Given the description of an element on the screen output the (x, y) to click on. 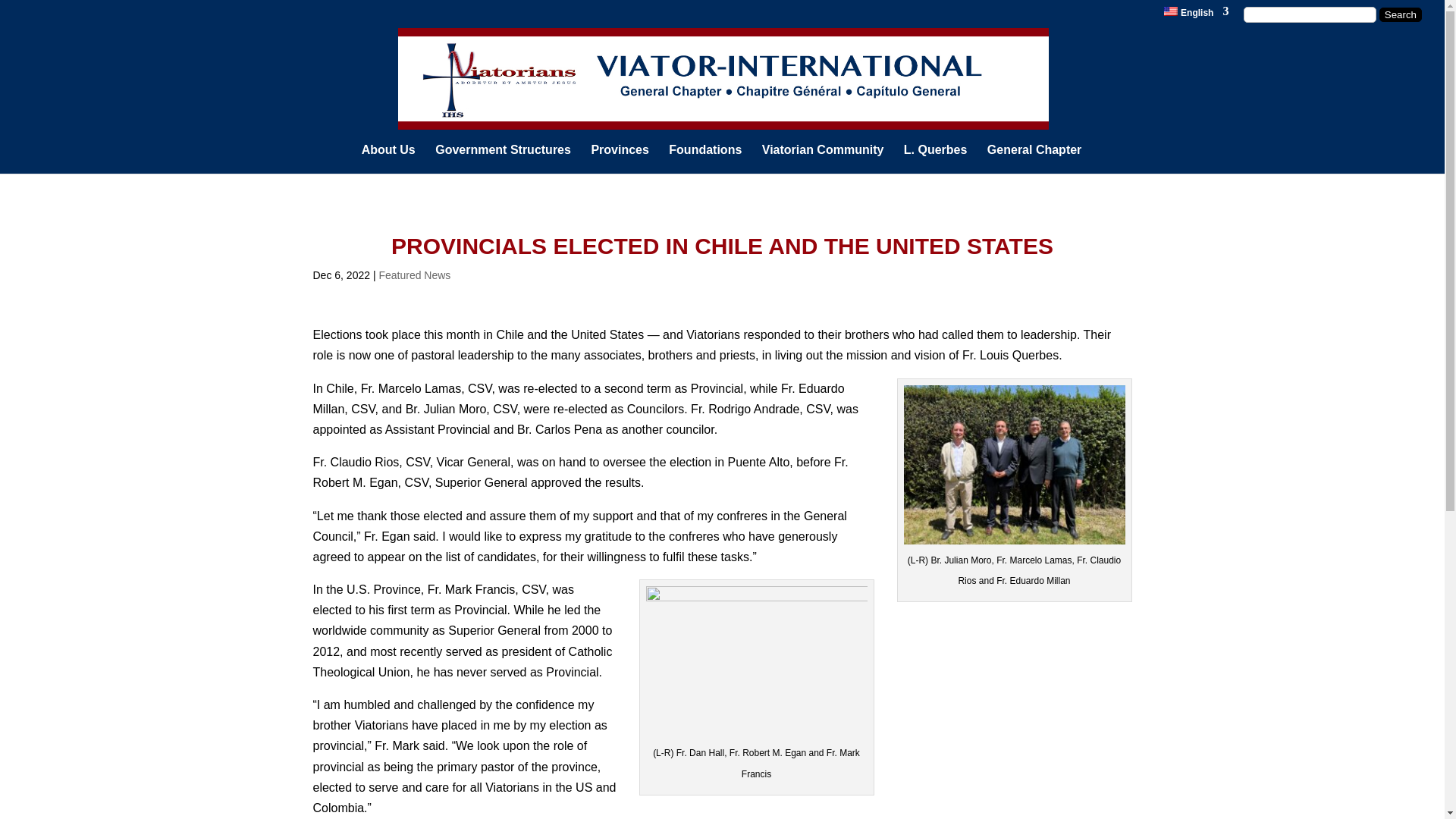
L. Querbes (936, 158)
Provinces (619, 156)
English (1195, 15)
Foundations (704, 156)
English (1195, 15)
Search (1400, 14)
General Chapter (1034, 158)
Government Structures (502, 156)
Viatorian Community (822, 156)
Search (1400, 14)
